Given the description of an element on the screen output the (x, y) to click on. 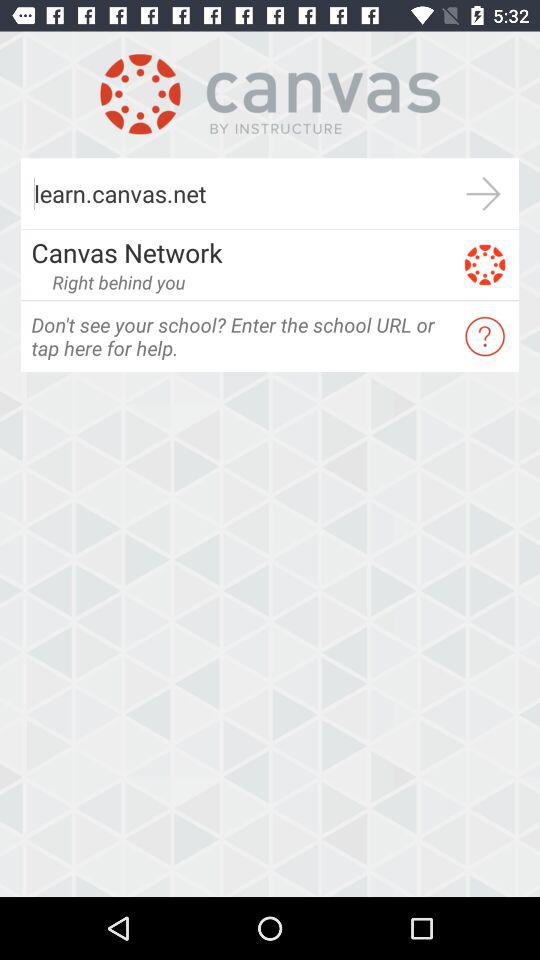
flip to the learn.canvas.net icon (234, 193)
